Given the description of an element on the screen output the (x, y) to click on. 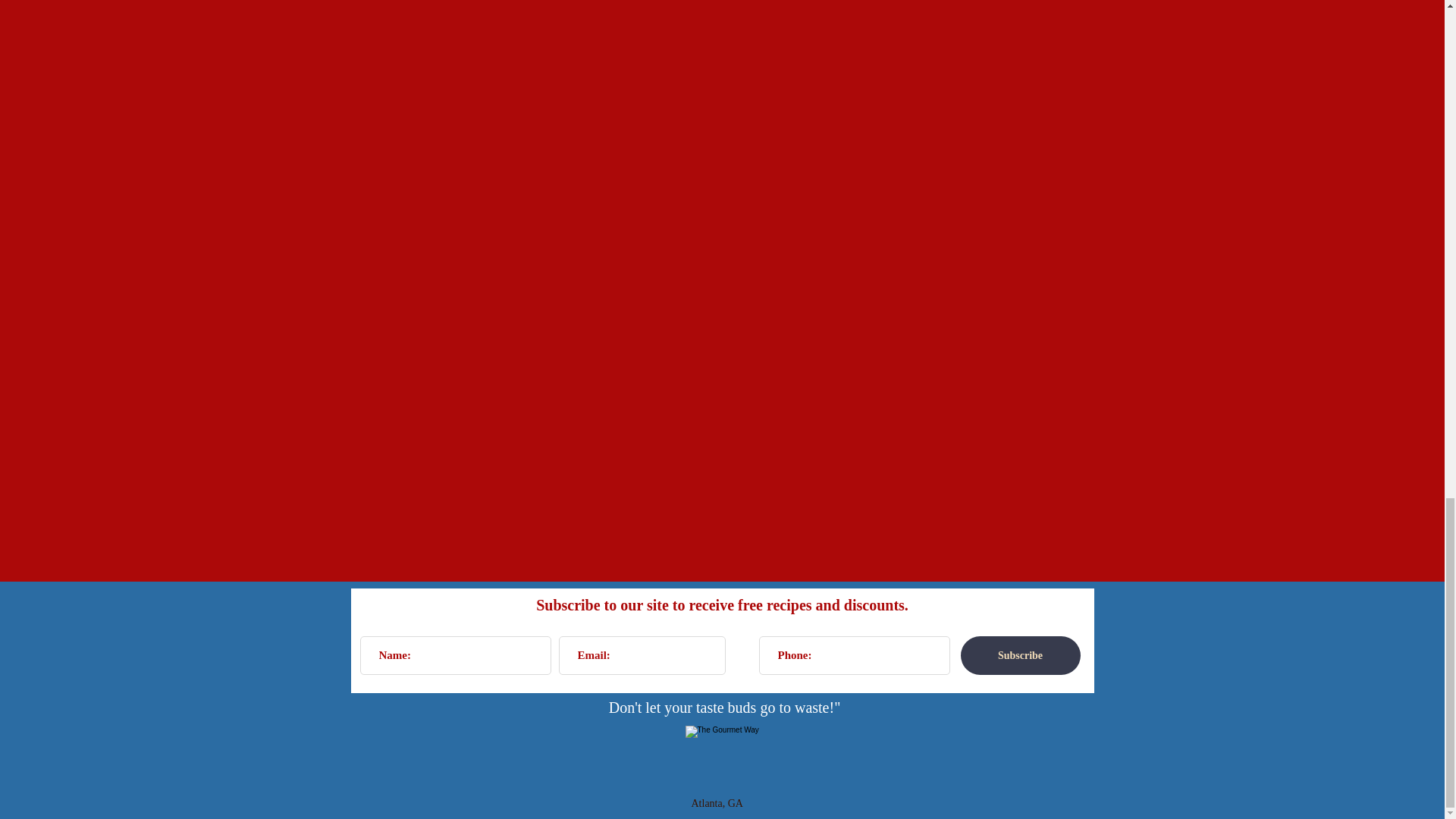
Subscribe (1019, 655)
